Given the description of an element on the screen output the (x, y) to click on. 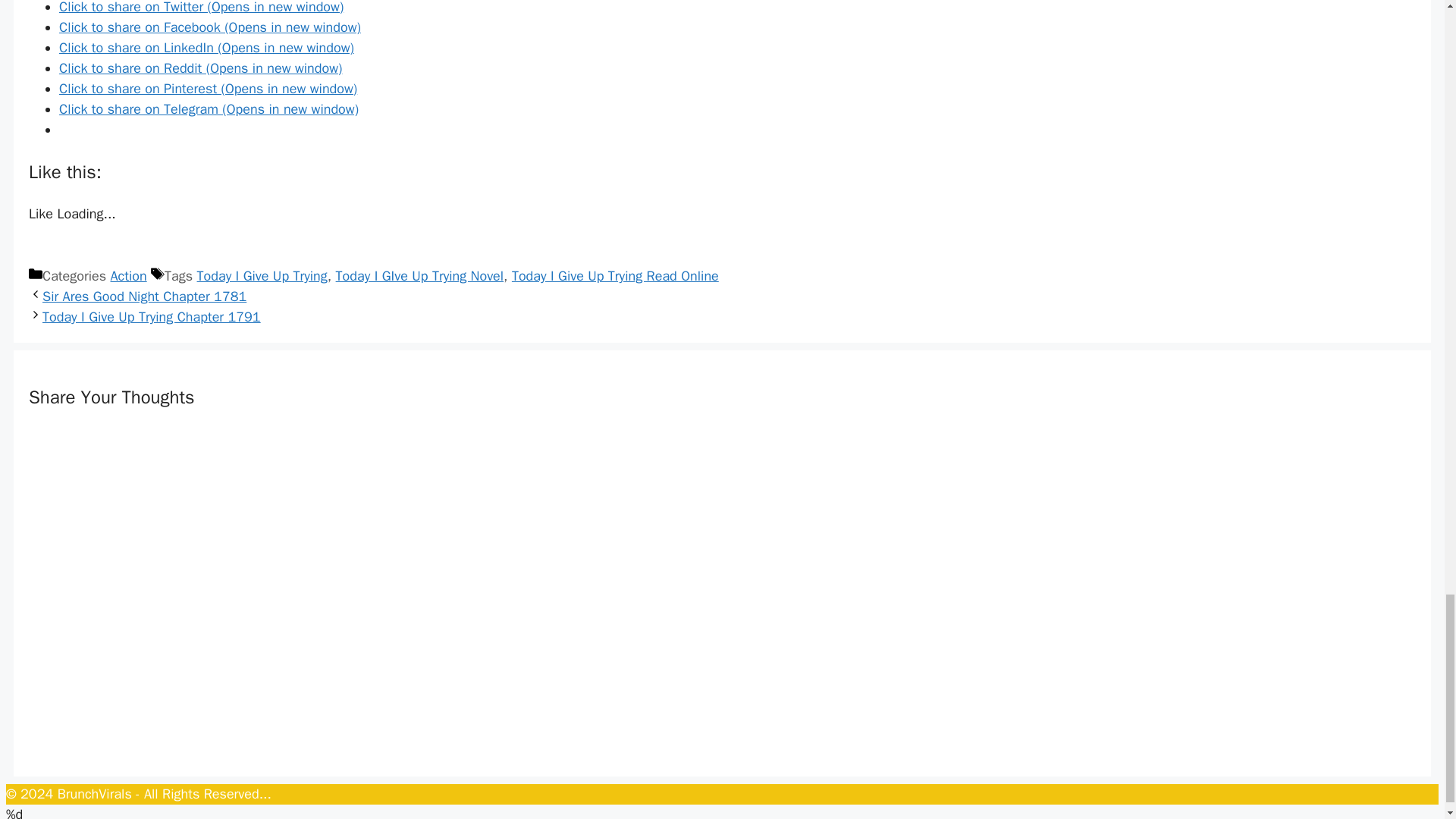
Click to share on Twitter (201, 7)
Today I Give Up Trying (261, 275)
Today I Give Up Trying Read Online (615, 275)
Today I GIve Up Trying Novel (419, 275)
Today I Give Up Trying Chapter 1791 (151, 316)
Sir Ares Good Night Chapter 1781 (144, 296)
Click to share on Facebook (210, 27)
Action (128, 275)
Click to share on LinkedIn (206, 47)
Click to share on Reddit (200, 67)
Click to share on Pinterest (207, 88)
Click to share on Telegram (208, 108)
